Given the description of an element on the screen output the (x, y) to click on. 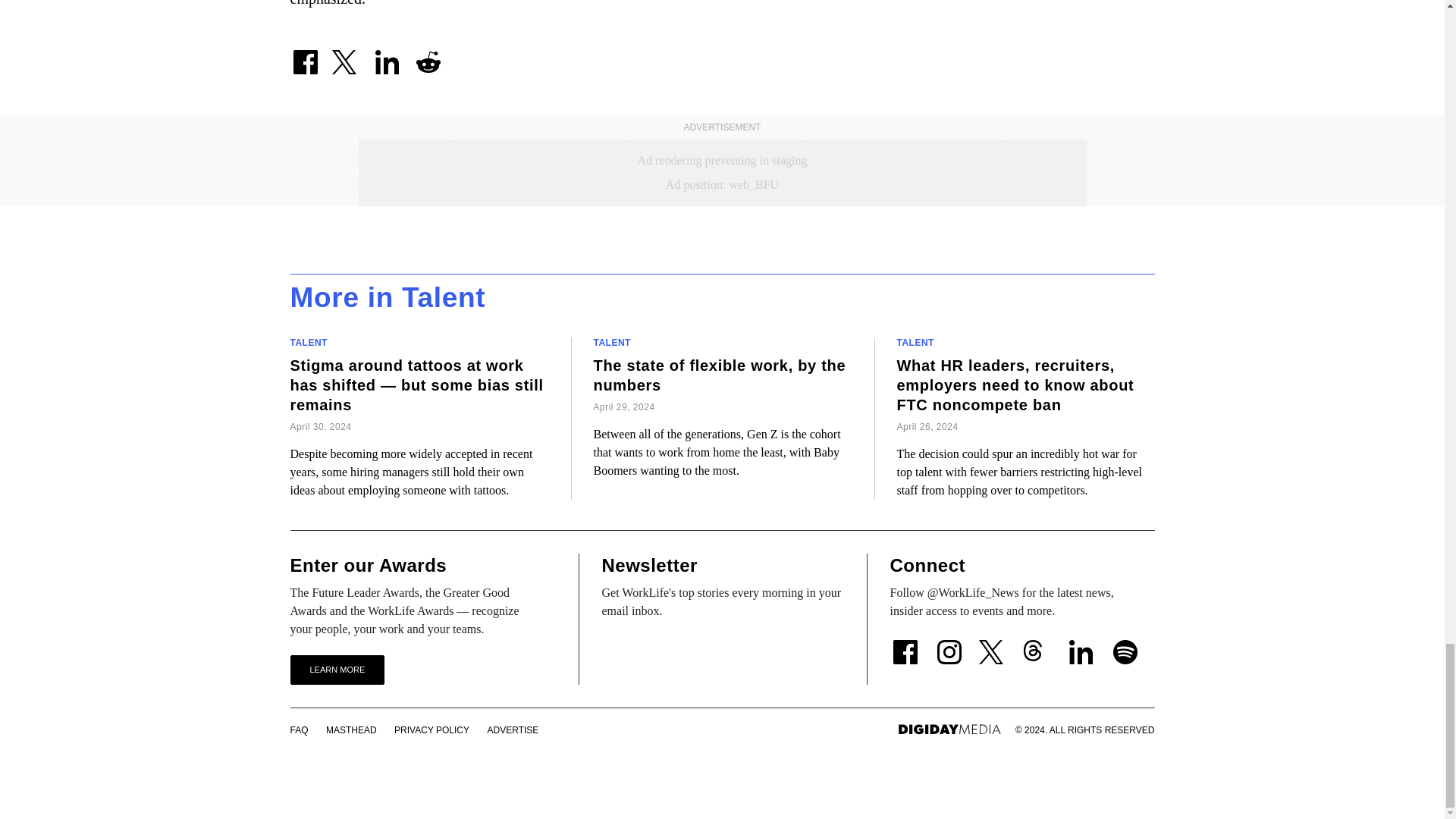
Share on Facebook (304, 55)
Share on Twitter (345, 55)
Share on Reddit (427, 55)
Share on LinkedIn (386, 55)
